Given the description of an element on the screen output the (x, y) to click on. 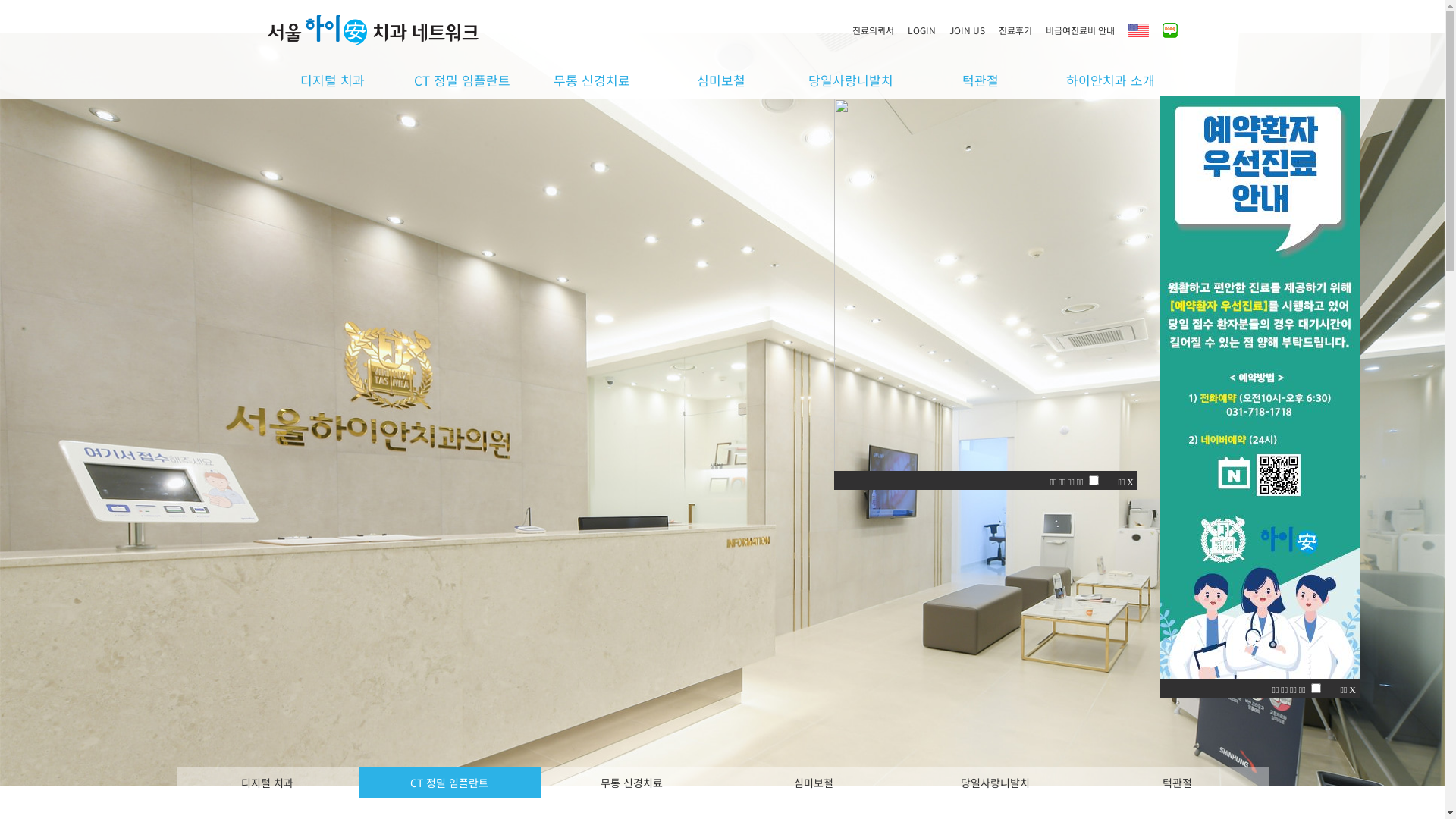
LOGIN Element type: text (926, 29)
JOIN US Element type: text (972, 29)
